Given the description of an element on the screen output the (x, y) to click on. 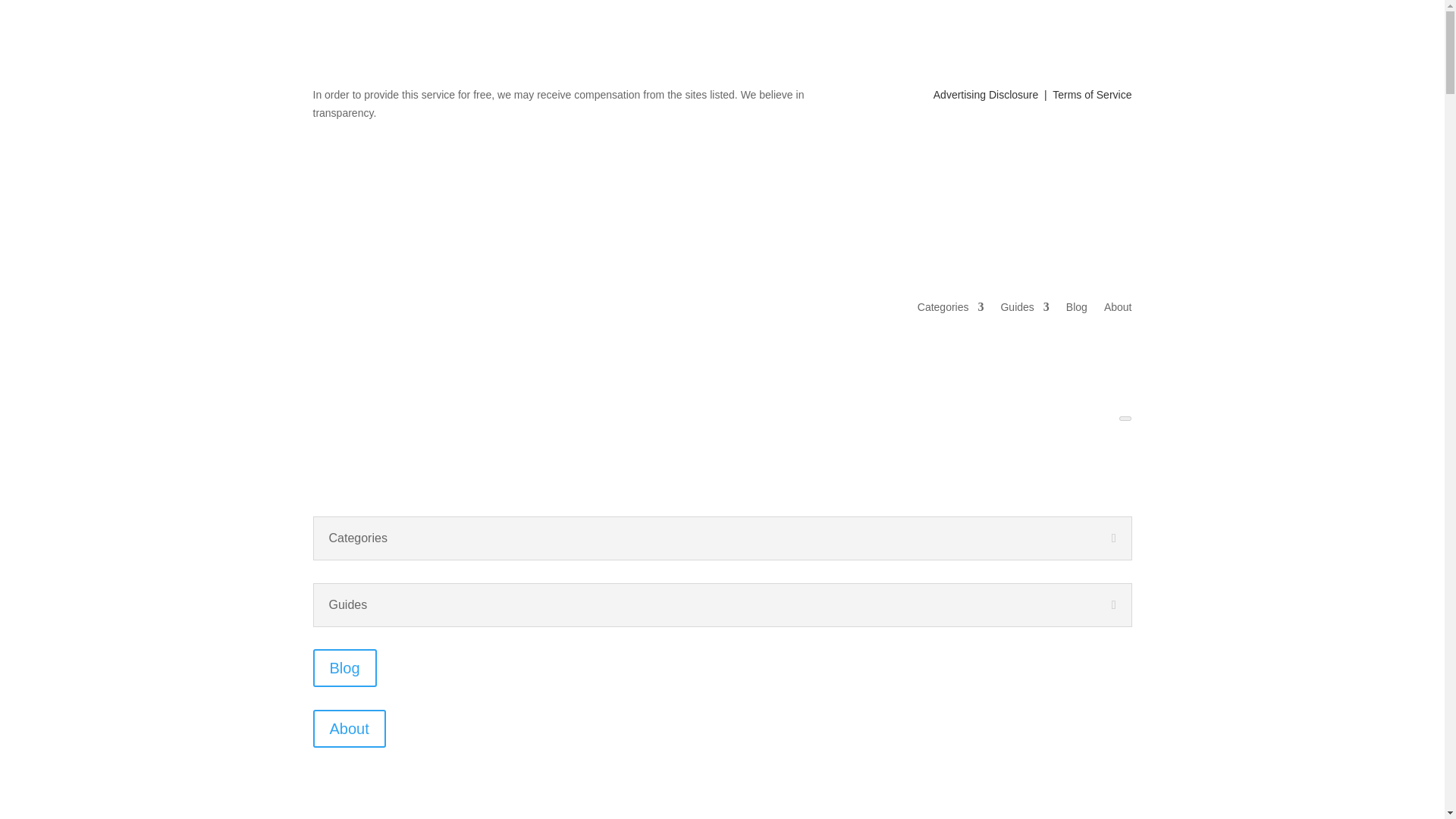
About (1117, 310)
Hosting-Review-Logo (378, 432)
Categories (950, 310)
Hosting-Review-Logo (378, 321)
Blog (1076, 310)
Guides (1024, 310)
